Given the description of an element on the screen output the (x, y) to click on. 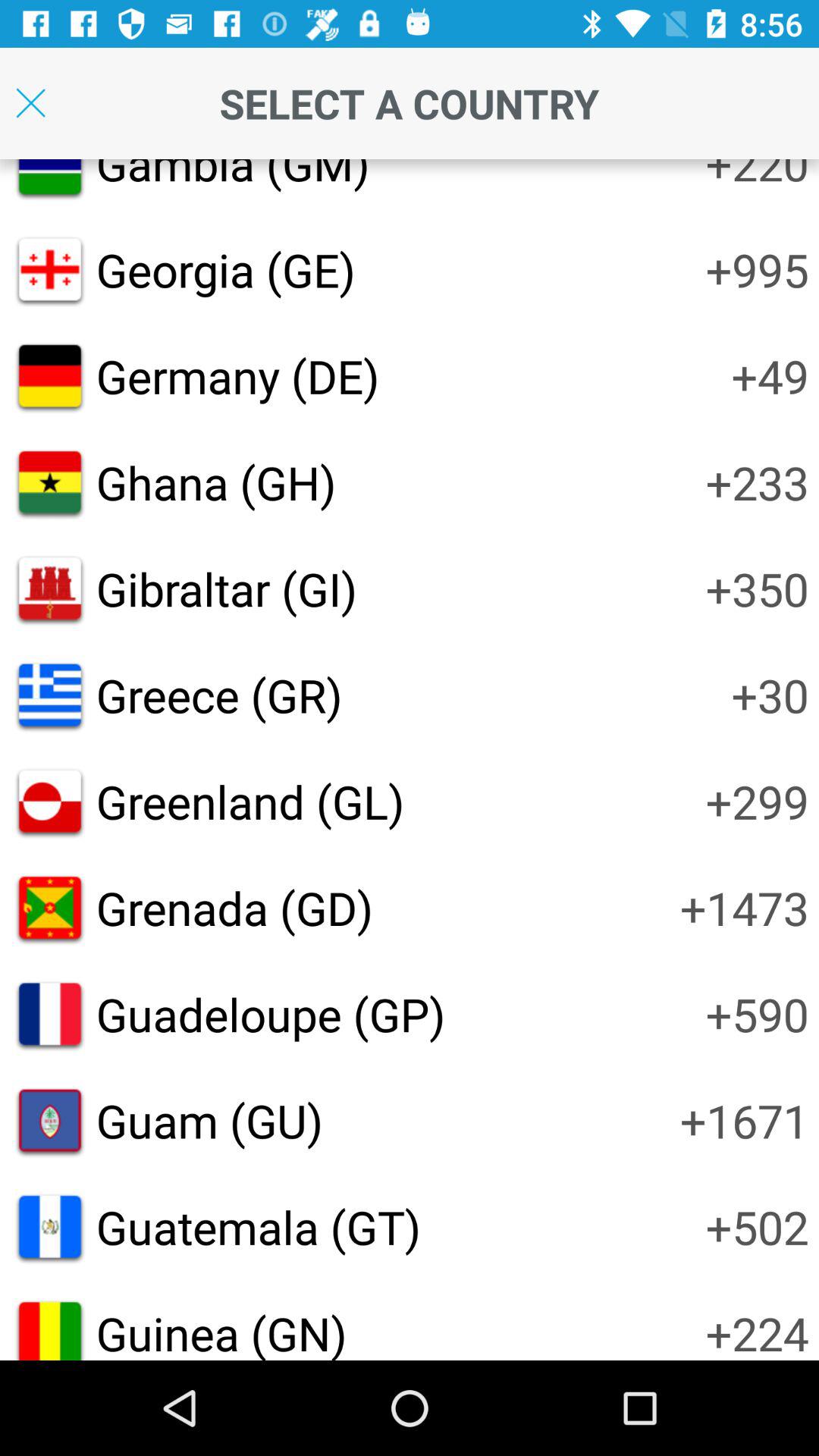
flip until +1473 icon (744, 907)
